Given the description of an element on the screen output the (x, y) to click on. 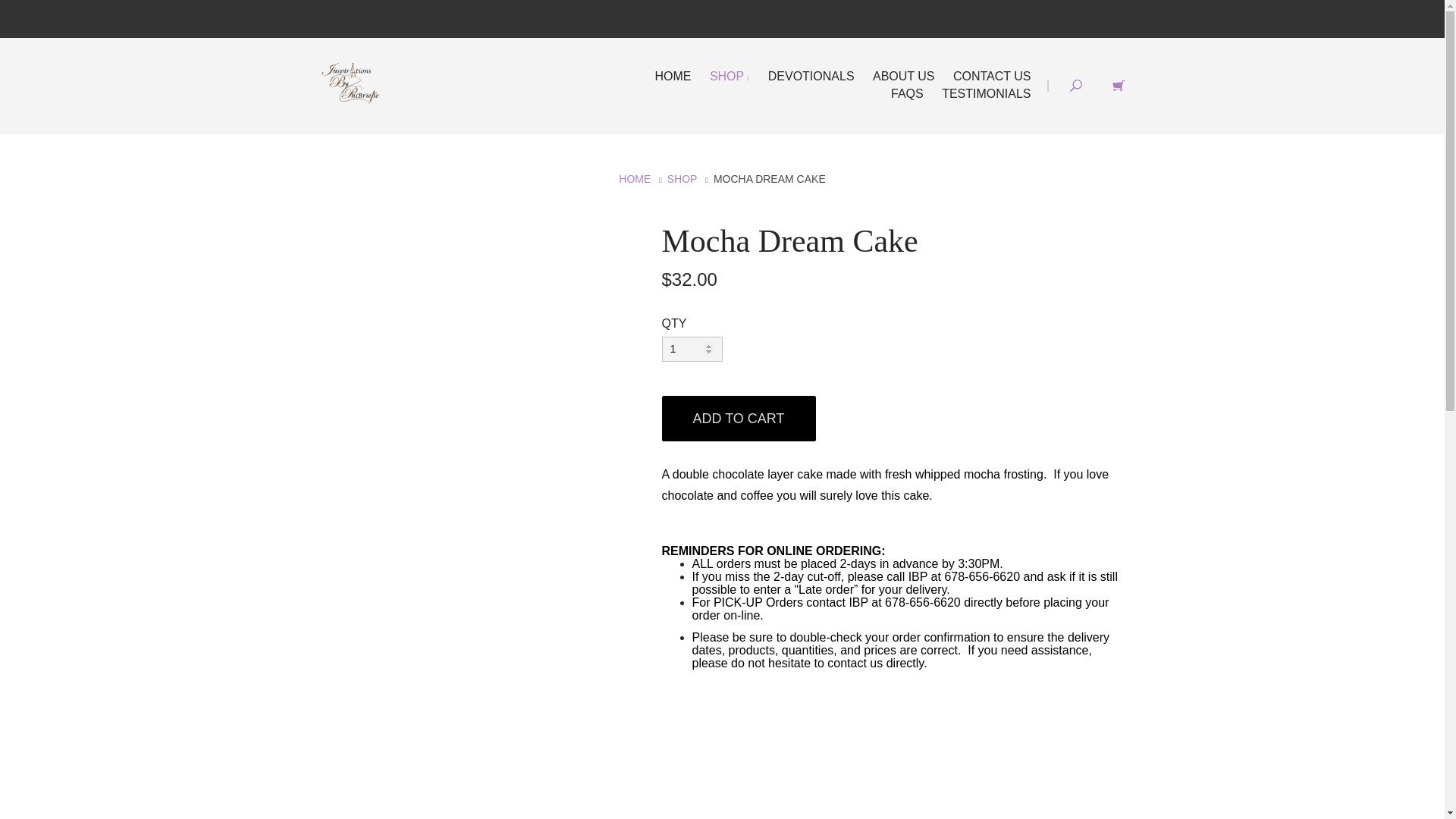
ABOUT US (903, 75)
Add to Cart (738, 418)
HOME (634, 178)
SHOP (681, 178)
DEVOTIONALS (810, 75)
Add to Cart (738, 418)
TESTIMONIALS (986, 92)
SHOP (729, 75)
FAQS (907, 92)
HOME (672, 75)
CONTACT US (991, 75)
1 (691, 348)
